Given the description of an element on the screen output the (x, y) to click on. 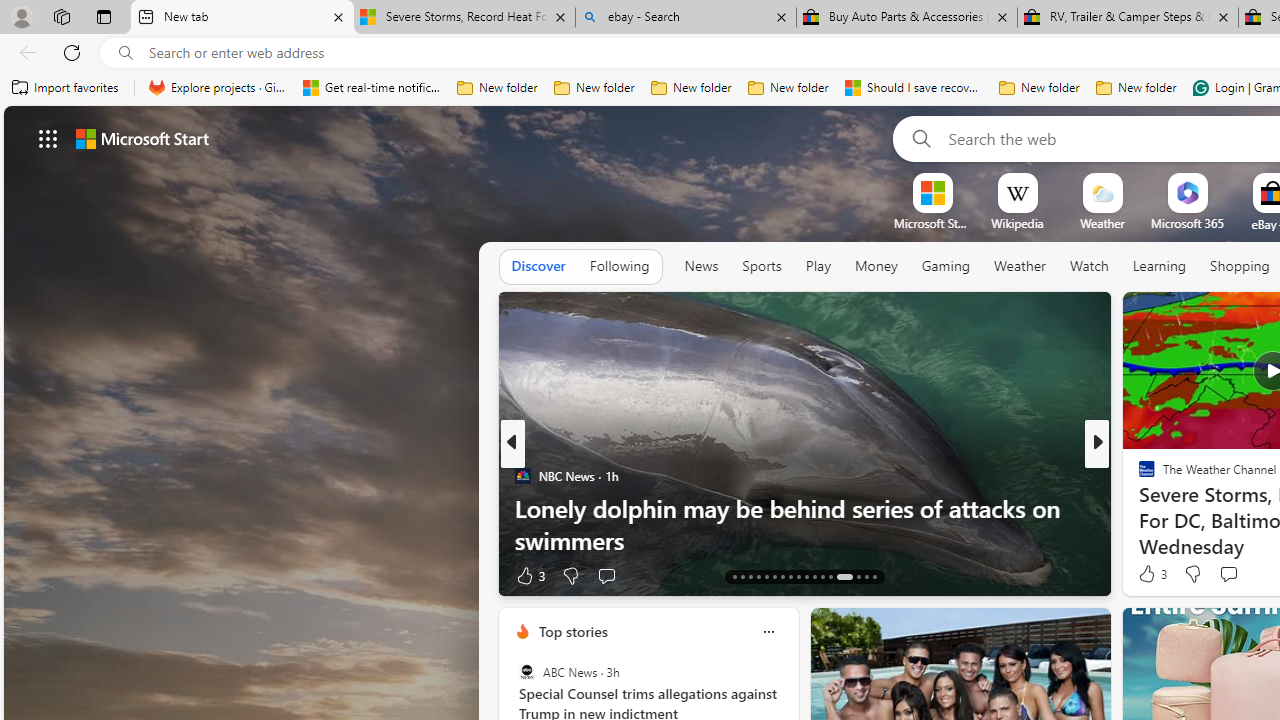
AutomationID: tab-21 (797, 576)
Search icon (125, 53)
Dailymotion (1138, 507)
View comments 8 Comment (1234, 574)
AutomationID: tab-28 (865, 576)
AutomationID: tab-24 (821, 576)
Gaming (945, 265)
View comments 1 Comment (1241, 574)
Wikipedia (1017, 223)
